Given the description of an element on the screen output the (x, y) to click on. 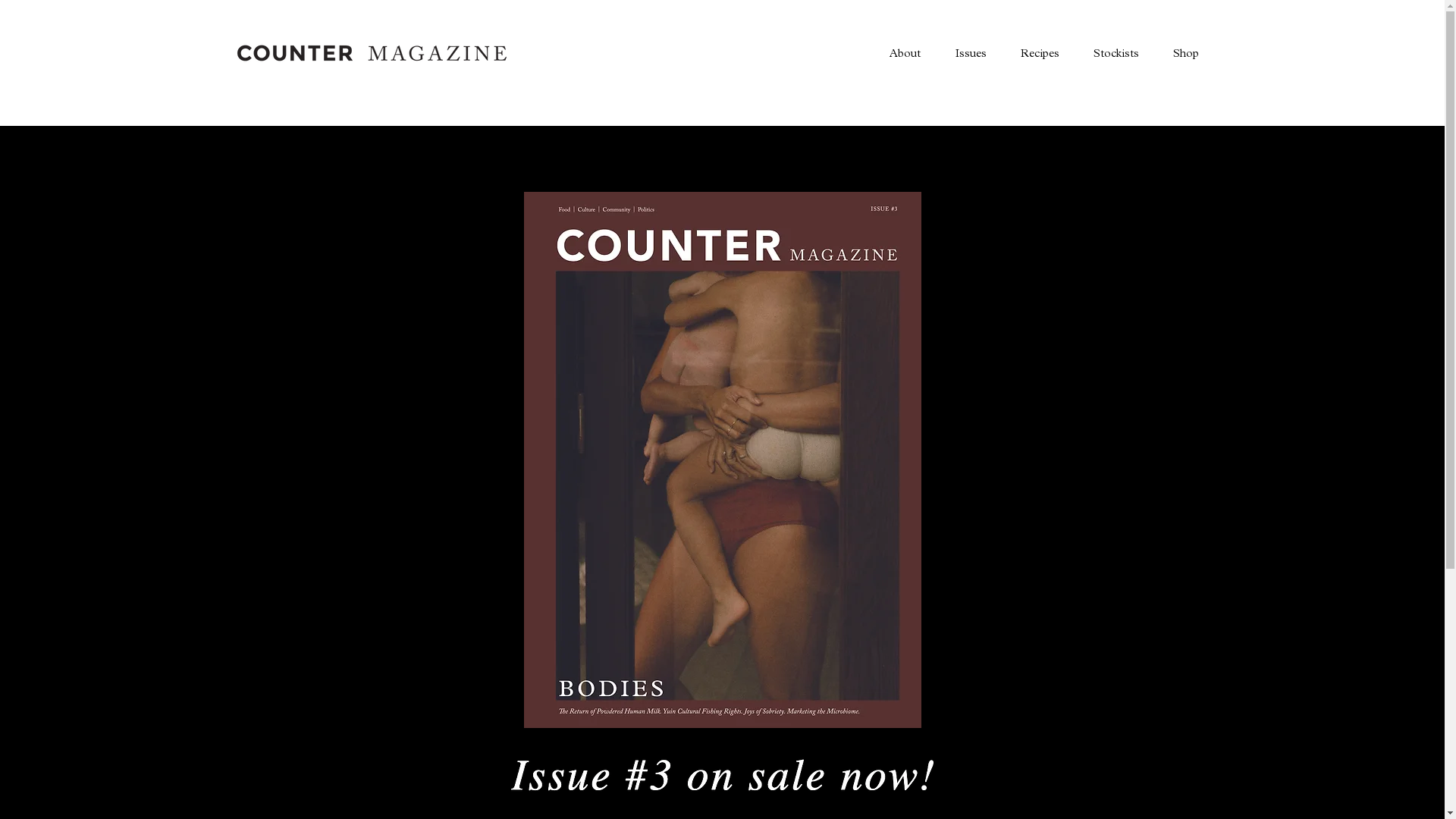
Shop Element type: text (1185, 52)
Issues Element type: text (969, 52)
Recipes Element type: text (1038, 52)
About Element type: text (904, 52)
Stockists Element type: text (1114, 52)
